Given the description of an element on the screen output the (x, y) to click on. 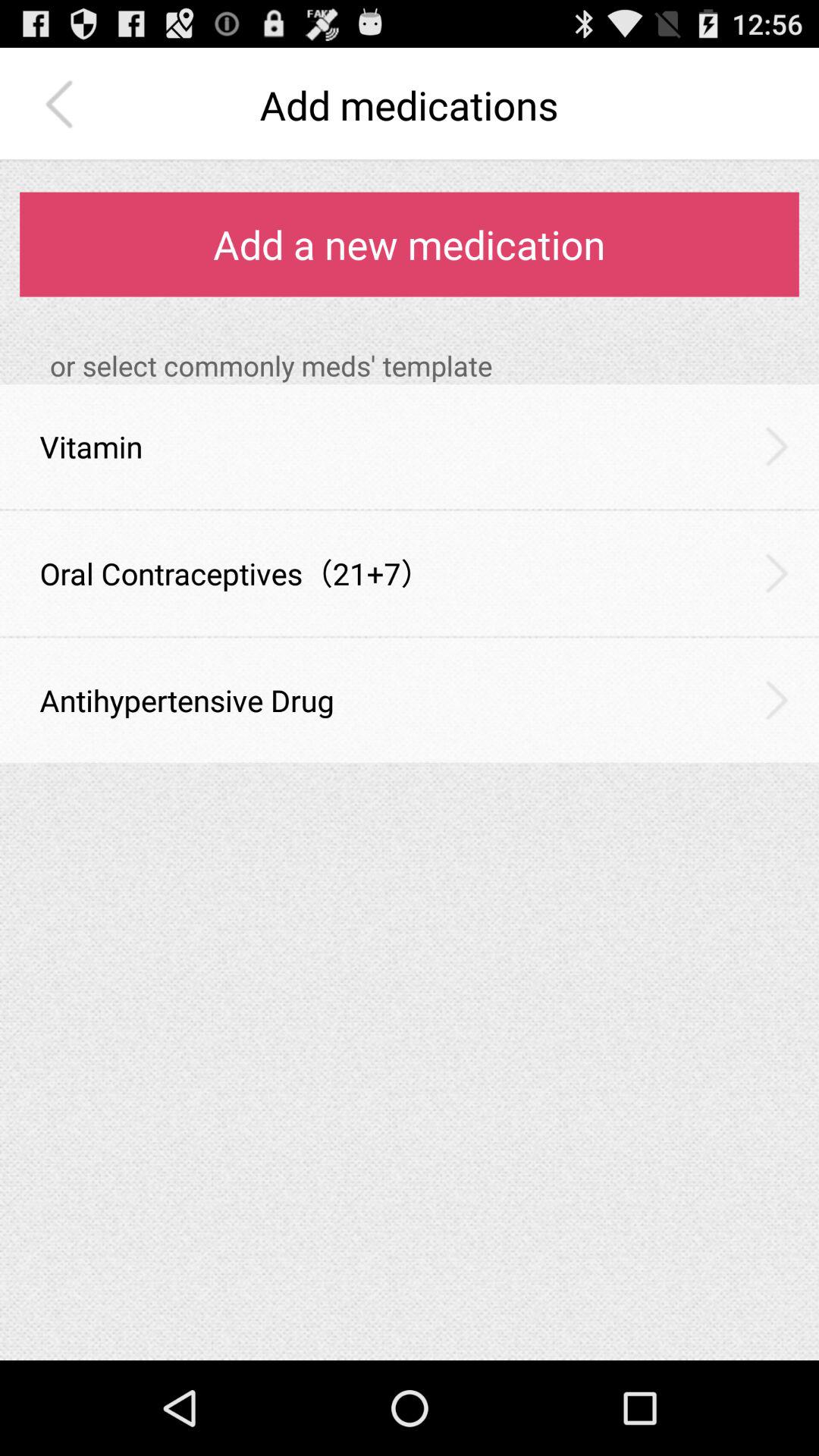
tap the icon next to oral contraceptives 21 app (776, 572)
